Given the description of an element on the screen output the (x, y) to click on. 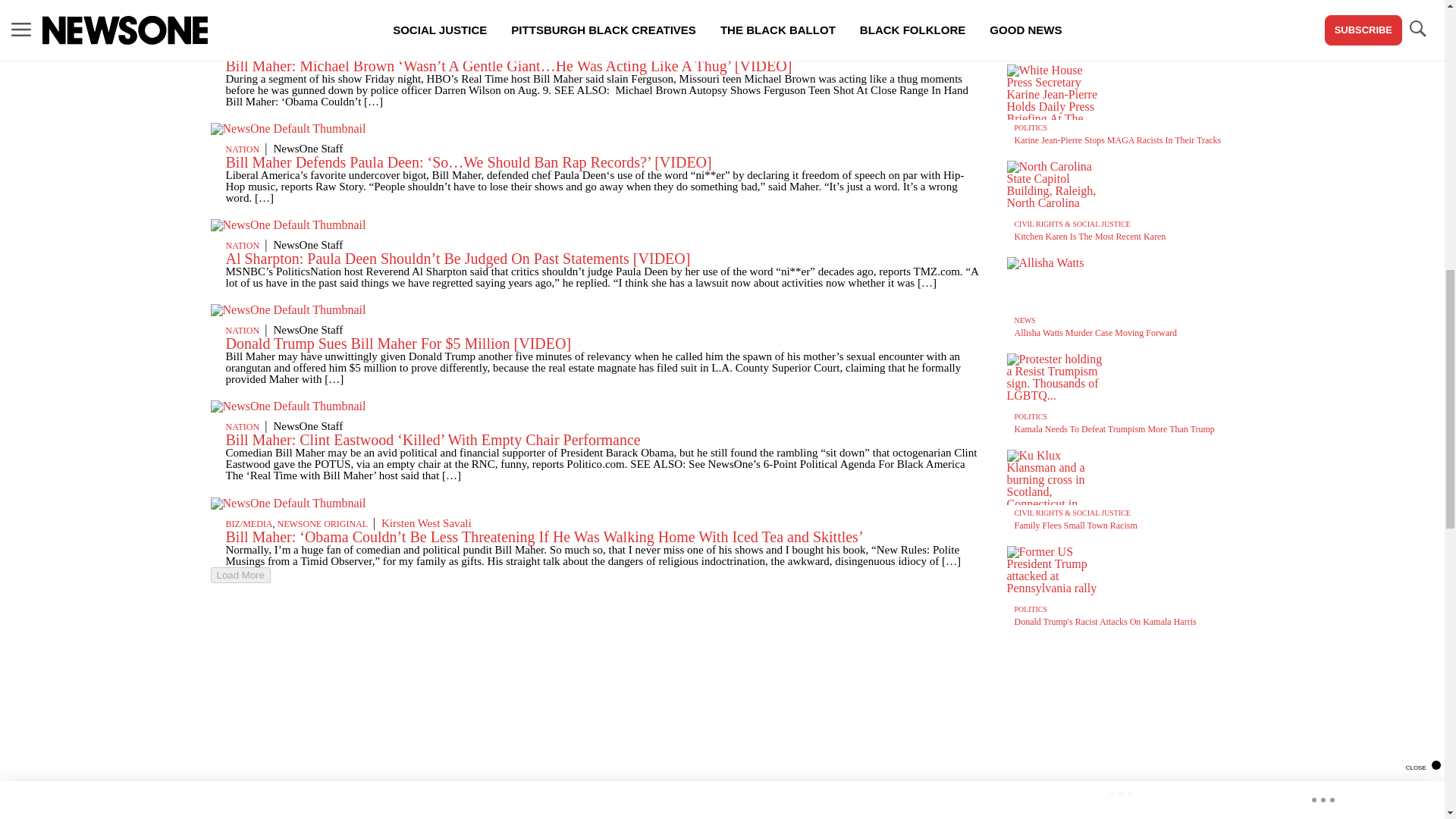
NATION (242, 52)
Load More (596, 575)
Kirsten West Savali (317, 51)
NATION (242, 149)
Load More (240, 575)
